Given the description of an element on the screen output the (x, y) to click on. 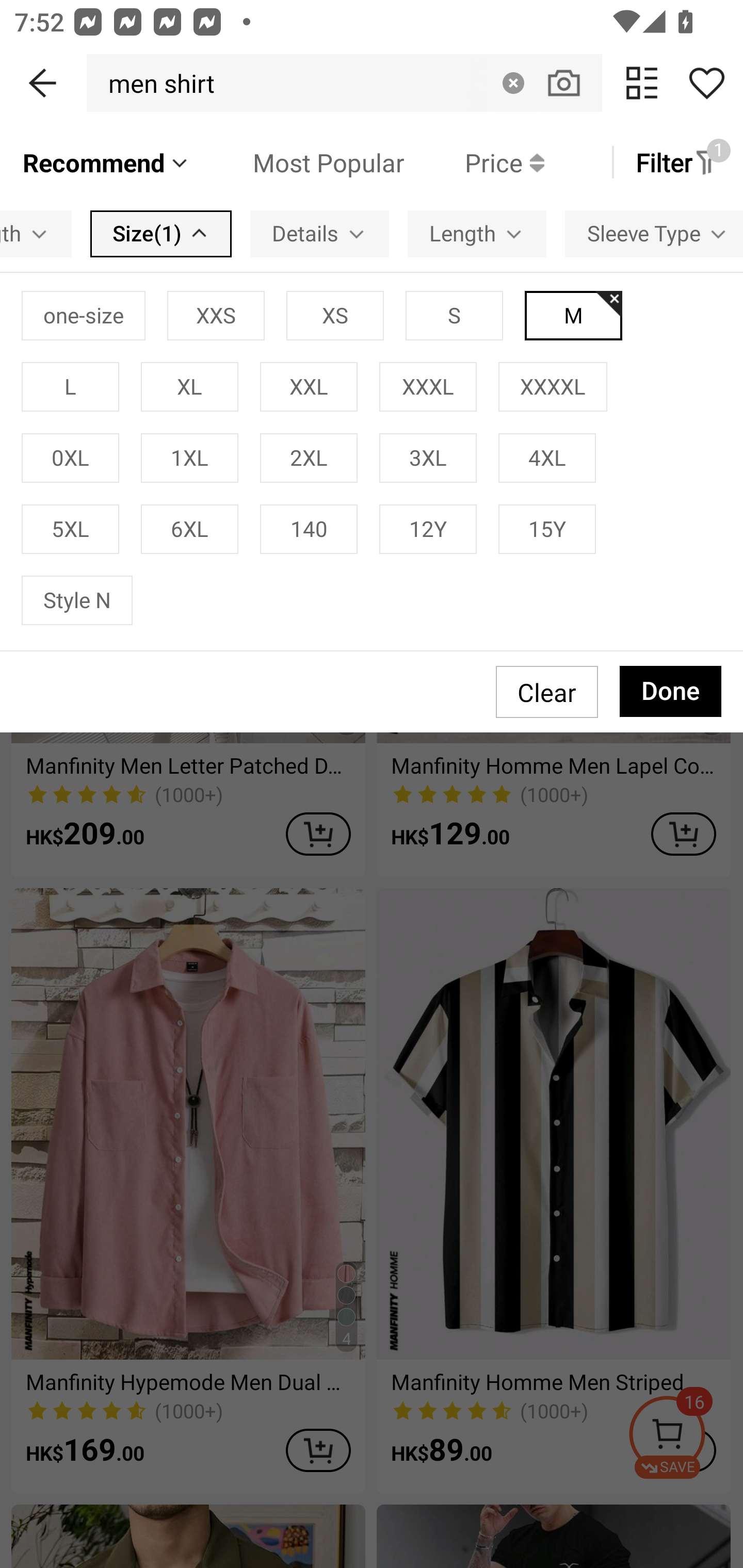
men shirt Clear (343, 82)
men shirt (155, 82)
Clear (513, 82)
change view (641, 82)
Share (706, 82)
Recommend (106, 162)
Most Popular (297, 162)
Price (474, 162)
Filter 1 (677, 162)
Size(1) (160, 233)
Details (319, 233)
Length (476, 233)
Sleeve Type (653, 233)
